Given the description of an element on the screen output the (x, y) to click on. 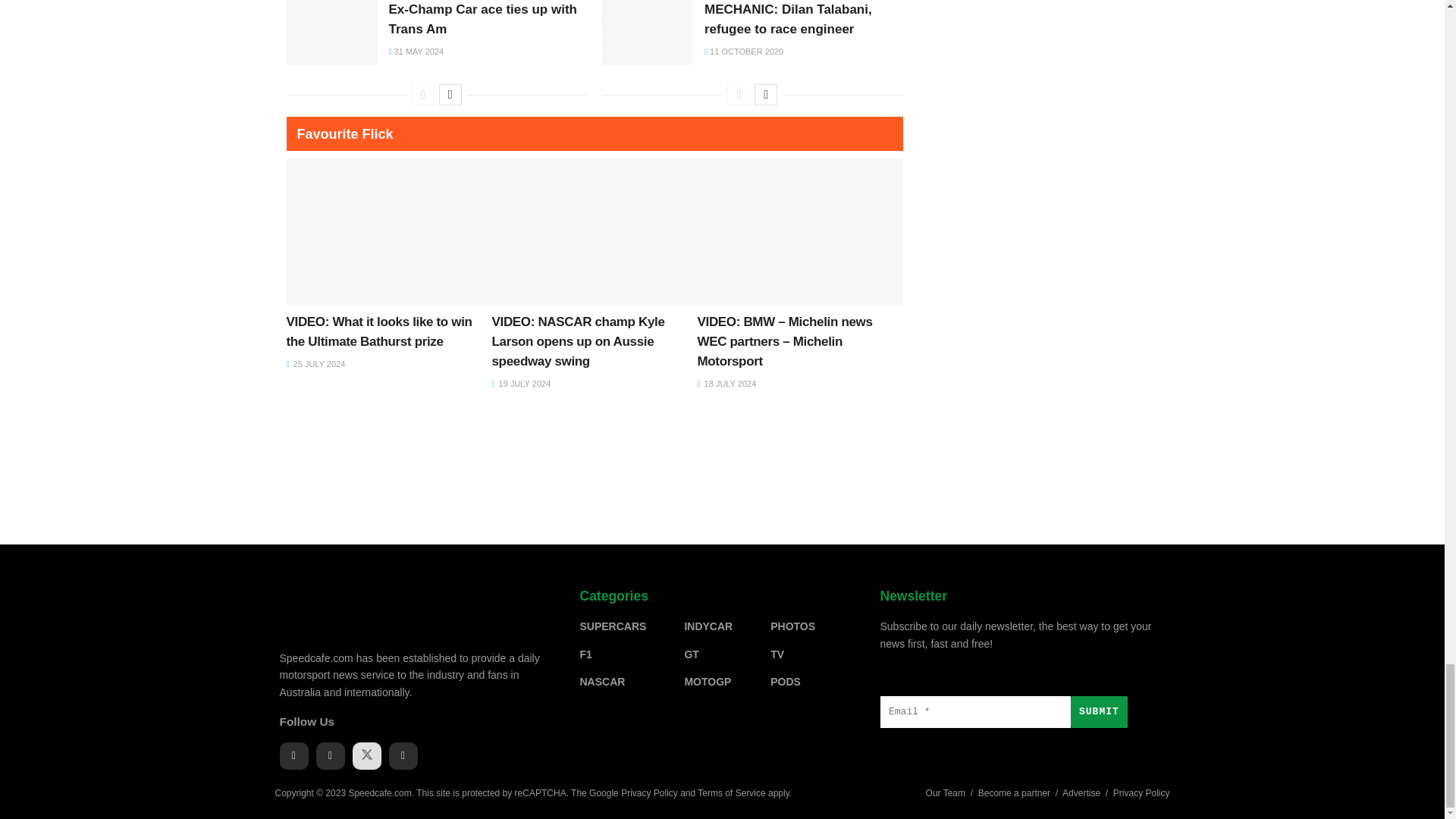
SUBMIT (1098, 712)
